Given the description of an element on the screen output the (x, y) to click on. 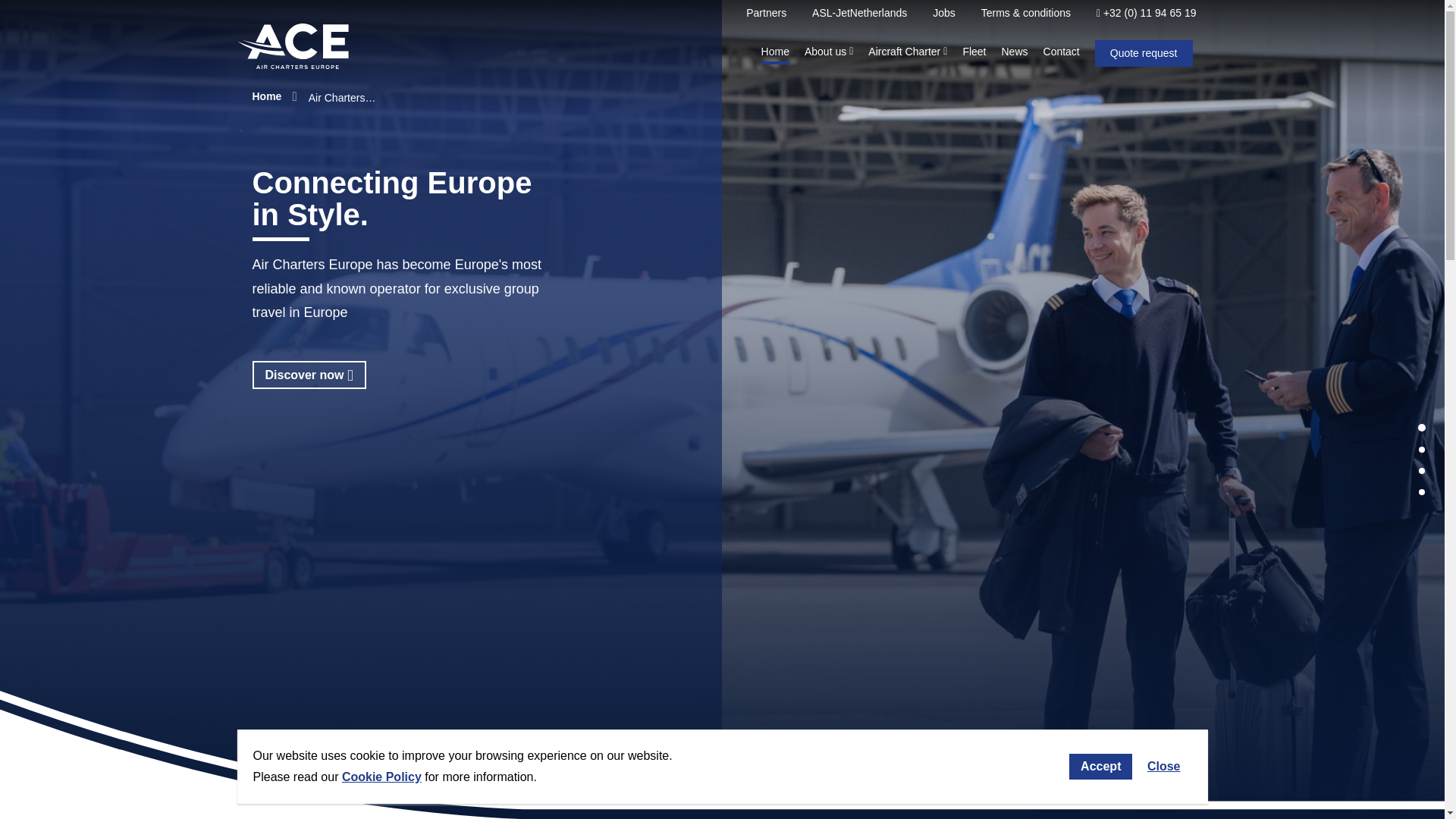
Quote request (1143, 53)
3 (1420, 470)
About us (829, 53)
Home (266, 96)
News (1014, 53)
Contact (1061, 53)
1 (1421, 427)
Home (775, 53)
ASL-JetNetherlands (859, 12)
2 (1420, 449)
4 (1420, 491)
Home (266, 96)
Discover now (308, 375)
Partners (765, 12)
Fleet (973, 53)
